Given the description of an element on the screen output the (x, y) to click on. 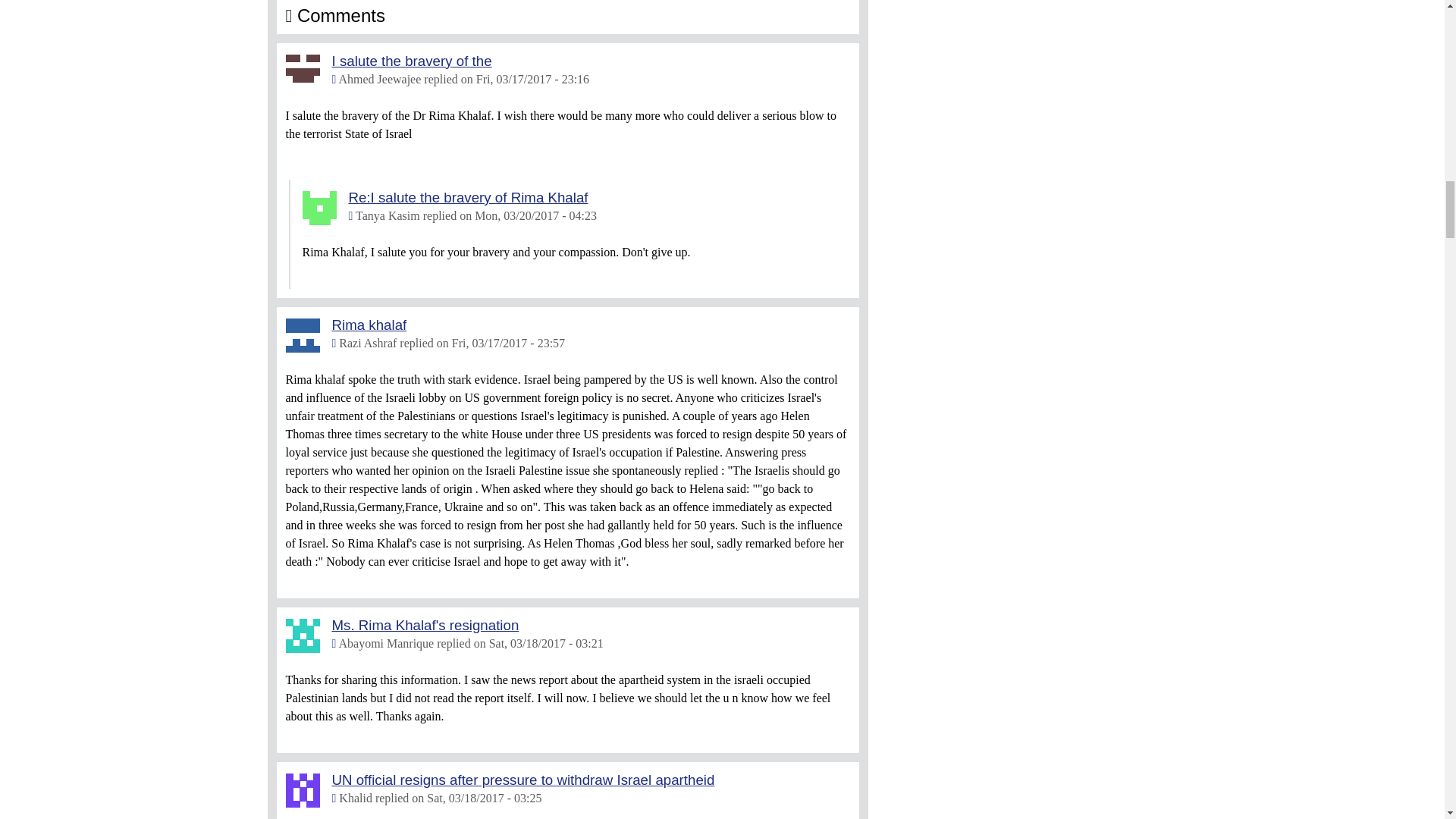
Re:I salute the bravery of Rima Khalaf (468, 197)
Rima khalaf (369, 324)
I salute the bravery of the (411, 60)
